Given the description of an element on the screen output the (x, y) to click on. 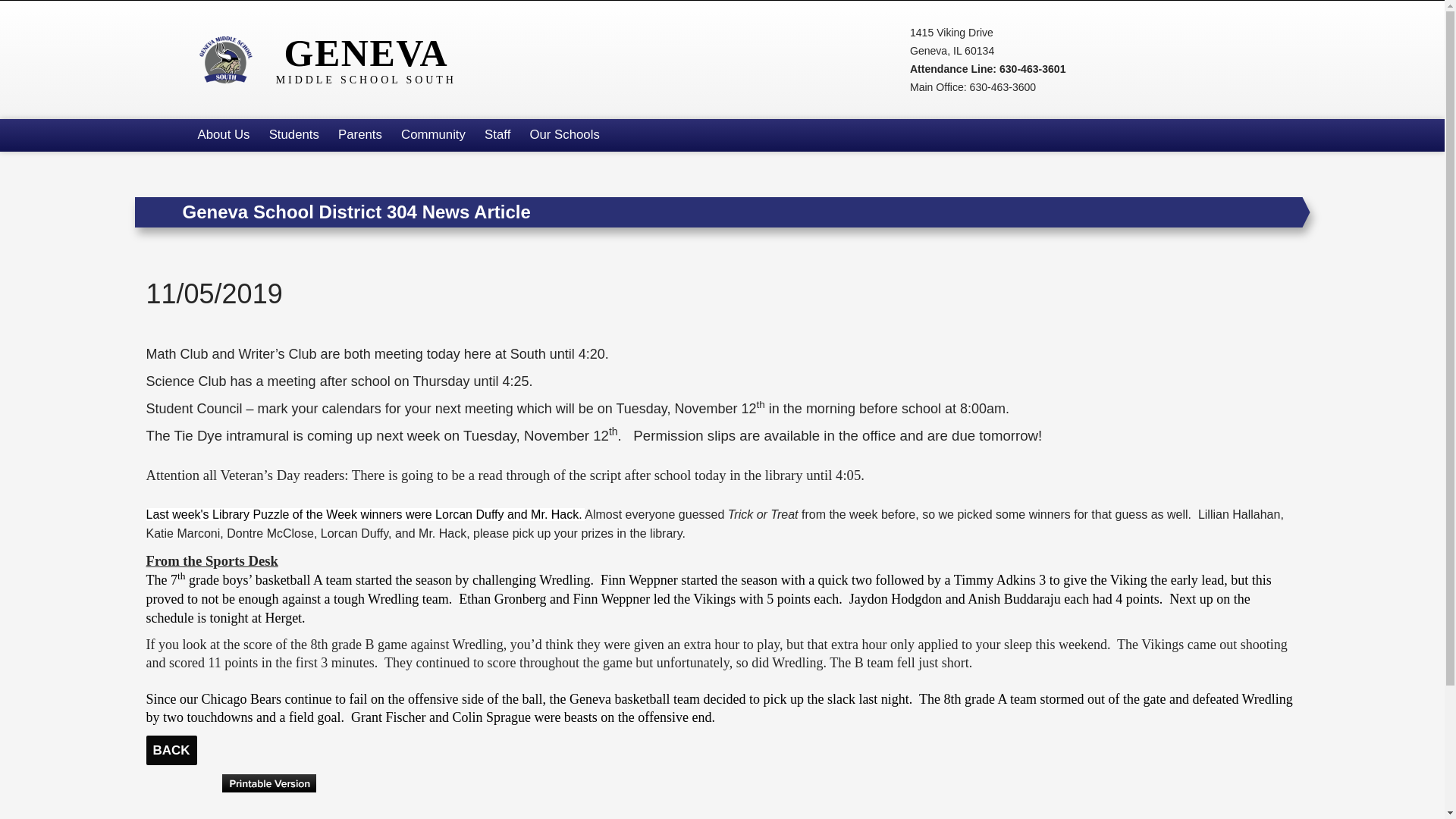
About Us (335, 59)
Students (223, 135)
